Given the description of an element on the screen output the (x, y) to click on. 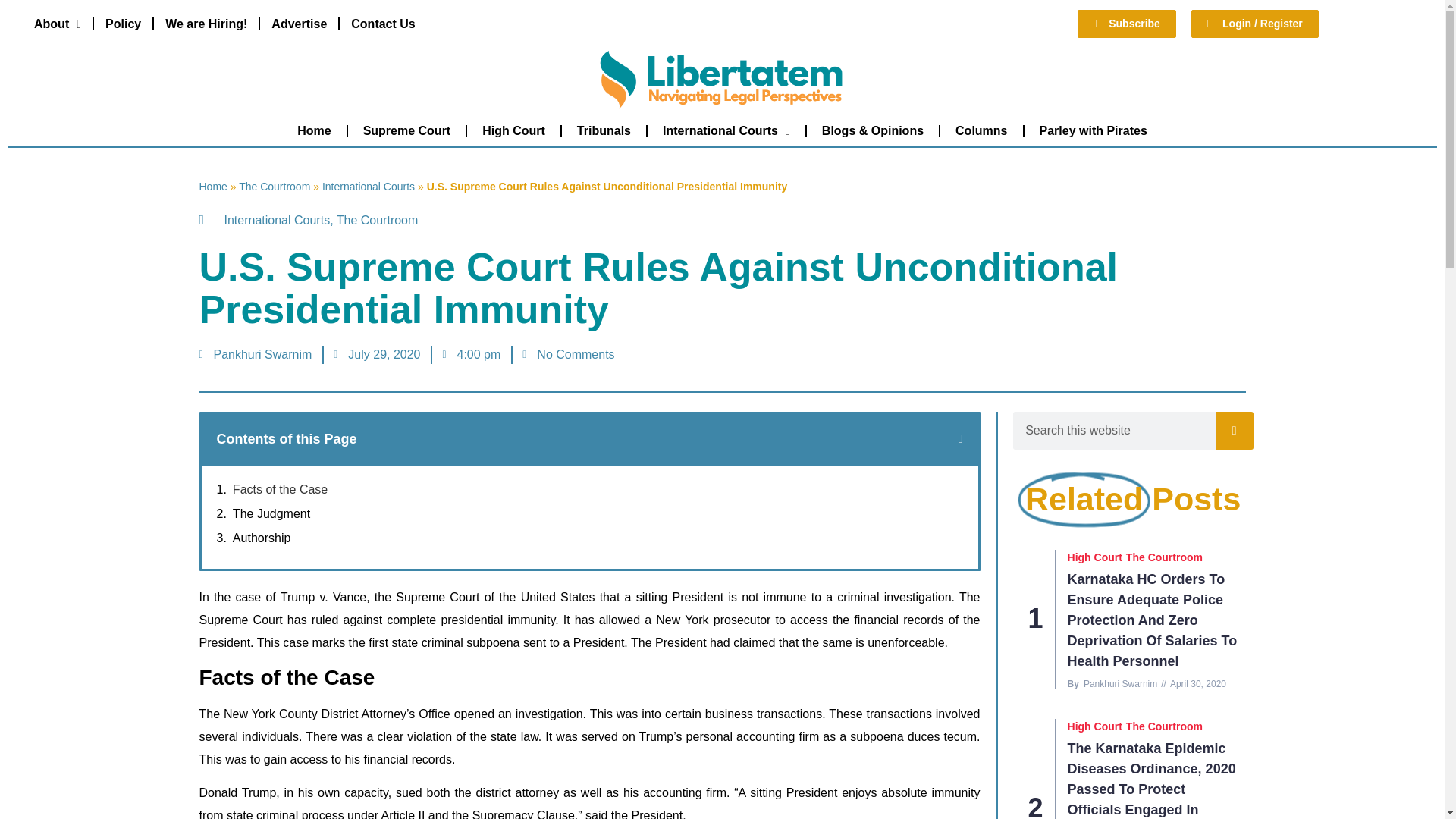
About (58, 22)
Parley with Pirates (1093, 130)
Columns (981, 130)
International Courts (277, 219)
Subscribe (1126, 23)
Advertise (298, 22)
Supreme Court (406, 130)
International Courts (367, 186)
The Courtroom (274, 186)
We are Hiring! (206, 22)
